Given the description of an element on the screen output the (x, y) to click on. 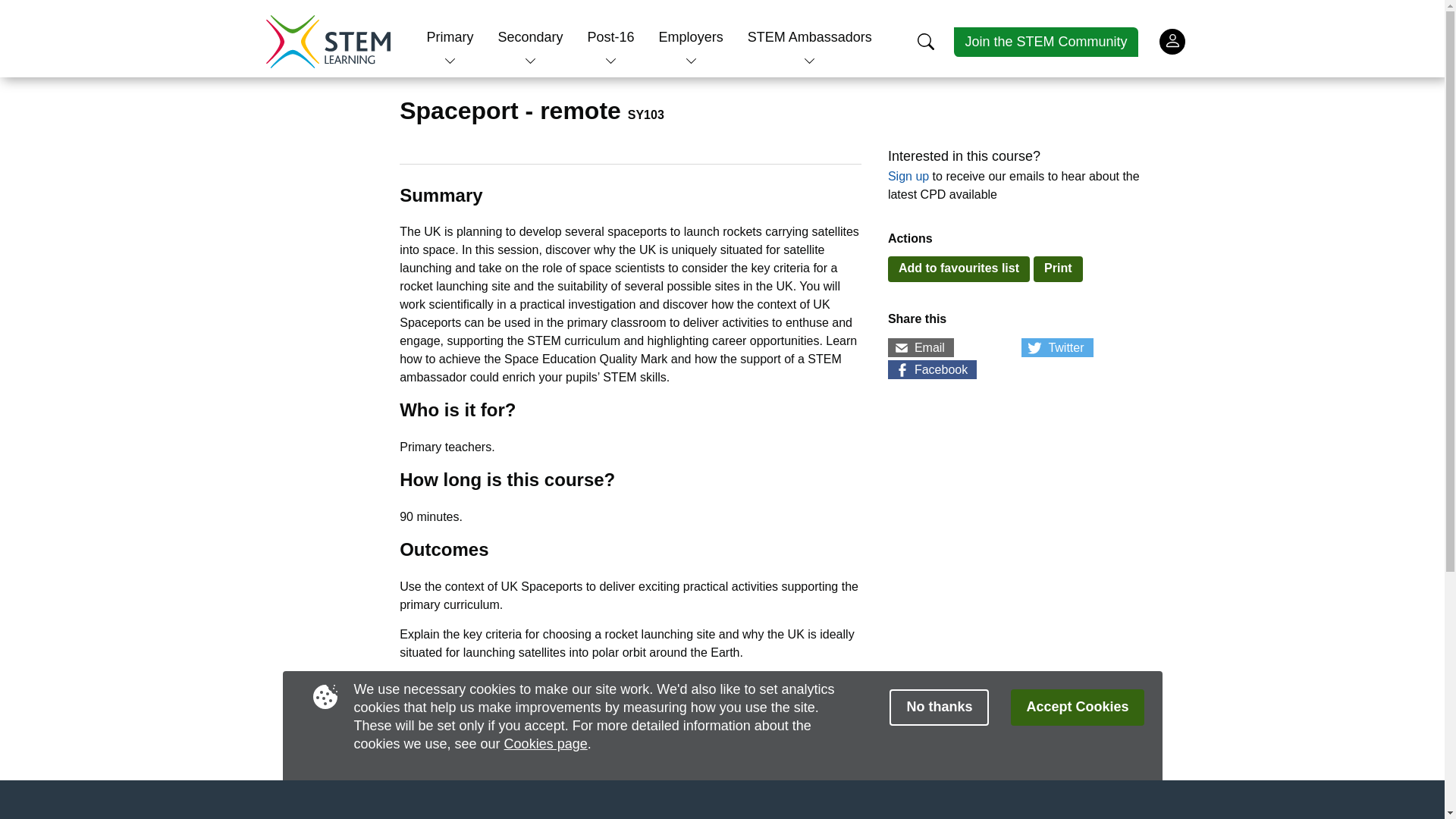
Home (327, 40)
Primary (449, 37)
Post-16 (611, 37)
Secondary (529, 37)
STEM Ambassadors (810, 37)
Employers (691, 37)
